Given the description of an element on the screen output the (x, y) to click on. 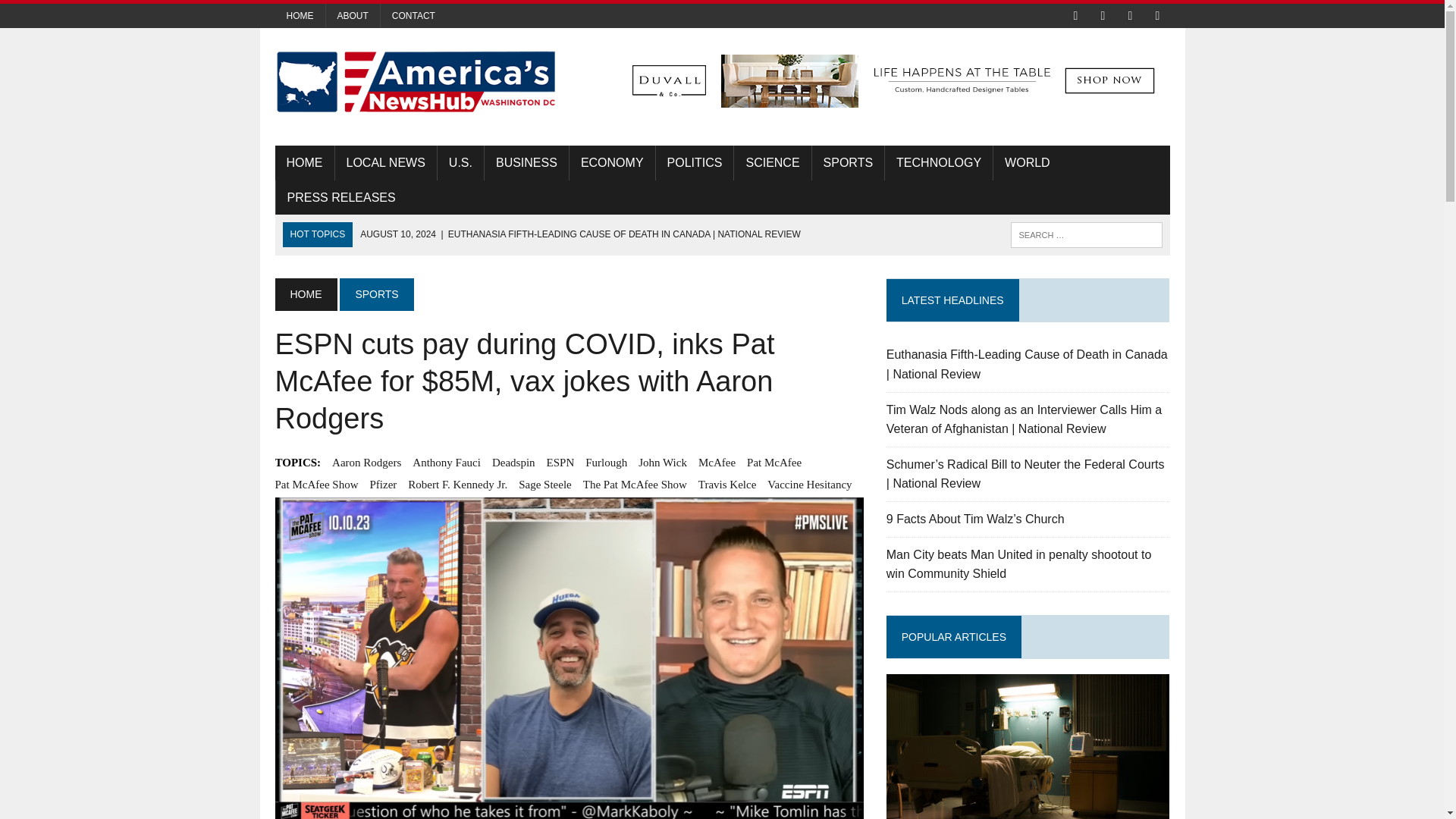
HOME (305, 294)
ECONOMY (612, 162)
HOME (299, 15)
ABOUT (353, 15)
John Wick (663, 462)
Deadspin (513, 462)
TECHNOLOGY (938, 162)
Furlough (606, 462)
Aaron Rodgers (366, 462)
SPORTS (848, 162)
